Given the description of an element on the screen output the (x, y) to click on. 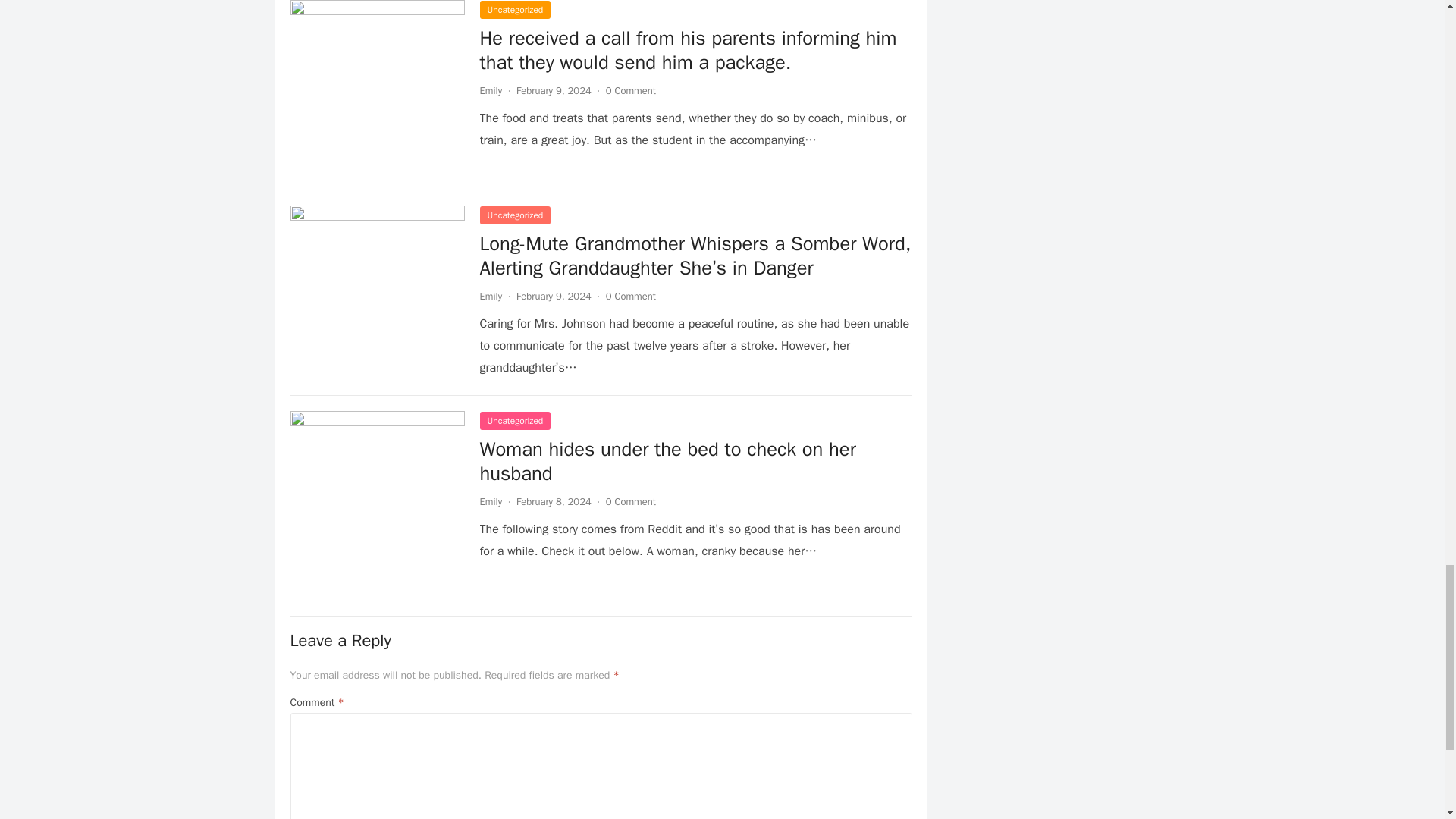
0 Comment (630, 295)
Posts by Emily (490, 90)
0 Comment (630, 90)
Emily (490, 295)
Emily (490, 90)
Uncategorized (514, 215)
Uncategorized (514, 9)
Posts by Emily (490, 295)
Uncategorized (514, 420)
Posts by Emily (490, 501)
